Given the description of an element on the screen output the (x, y) to click on. 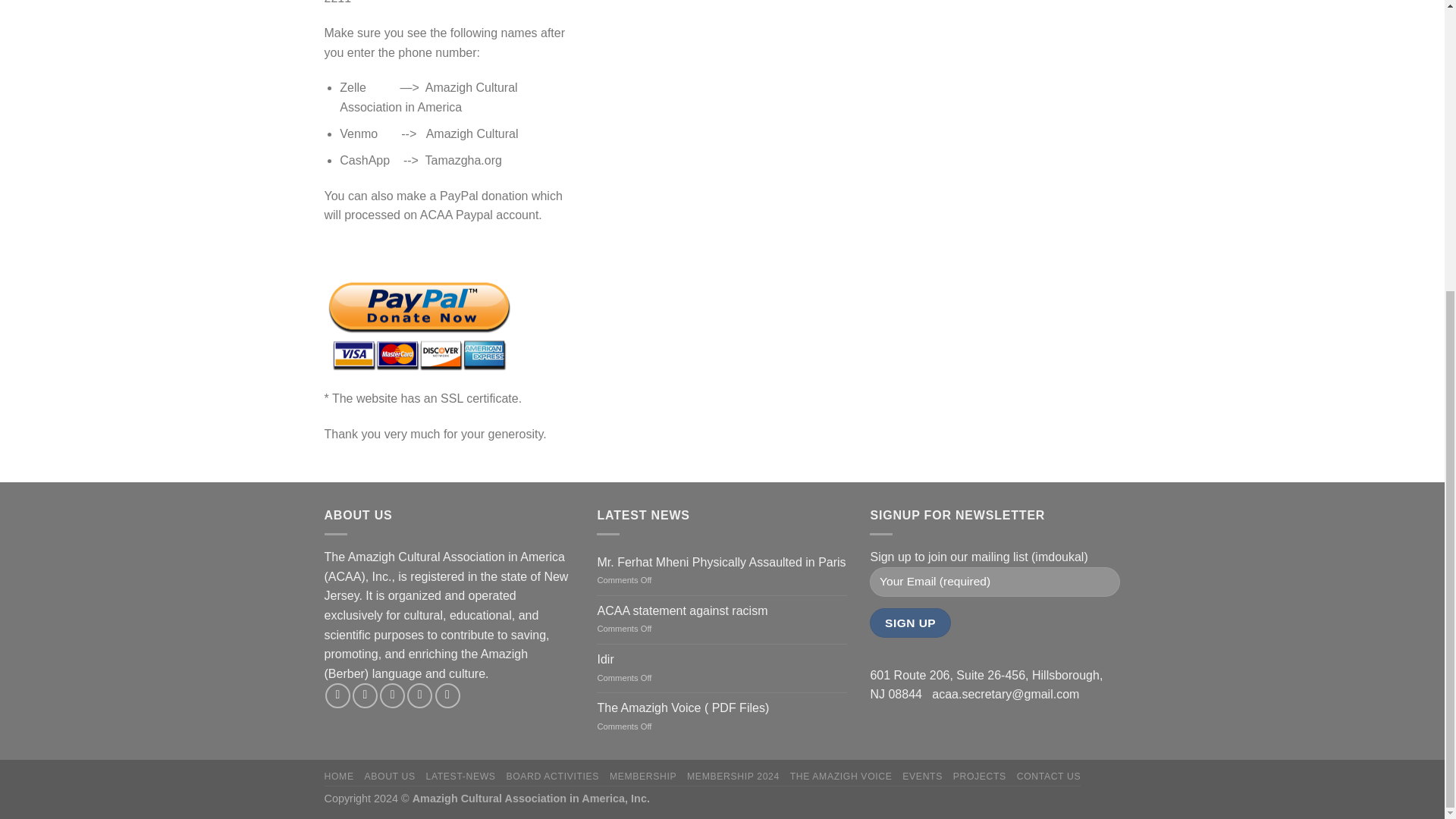
HOME (338, 776)
BOARD ACTIVITIES (551, 776)
Follow on Pinterest (447, 695)
THE AMAZIGH VOICE (841, 776)
Mr. Ferhat Mheni Physically Assaulted in Paris (721, 562)
EVENTS (922, 776)
MEMBERSHIP (643, 776)
Follow on Facebook (337, 695)
Sign Up (909, 623)
LATEST-NEWS (460, 776)
Sign Up (909, 623)
PayPal - The safer, easier way to pay online! (418, 317)
Follow on Twitter (392, 695)
ACAA statement against racism (721, 610)
MEMBERSHIP 2024 (732, 776)
